Given the description of an element on the screen output the (x, y) to click on. 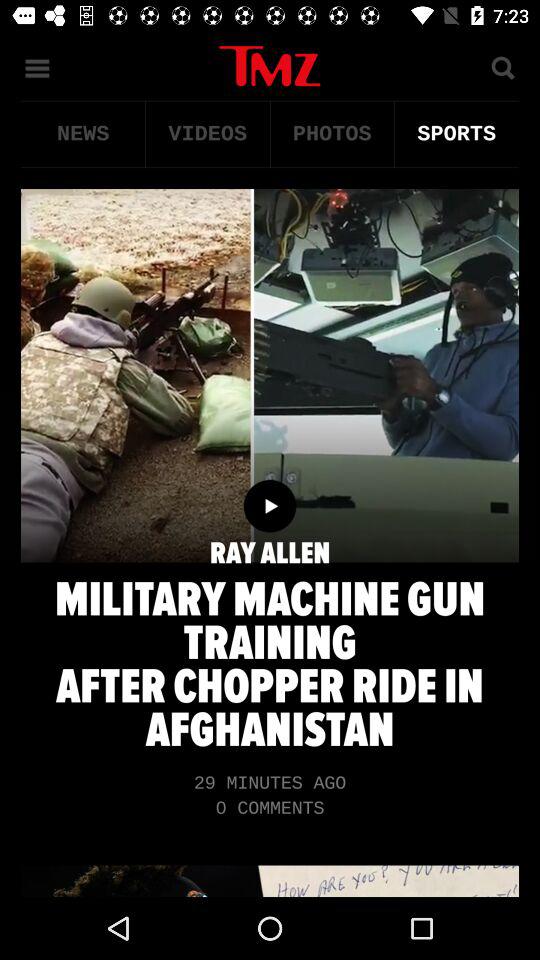
press the item next to the photos (456, 133)
